Given the description of an element on the screen output the (x, y) to click on. 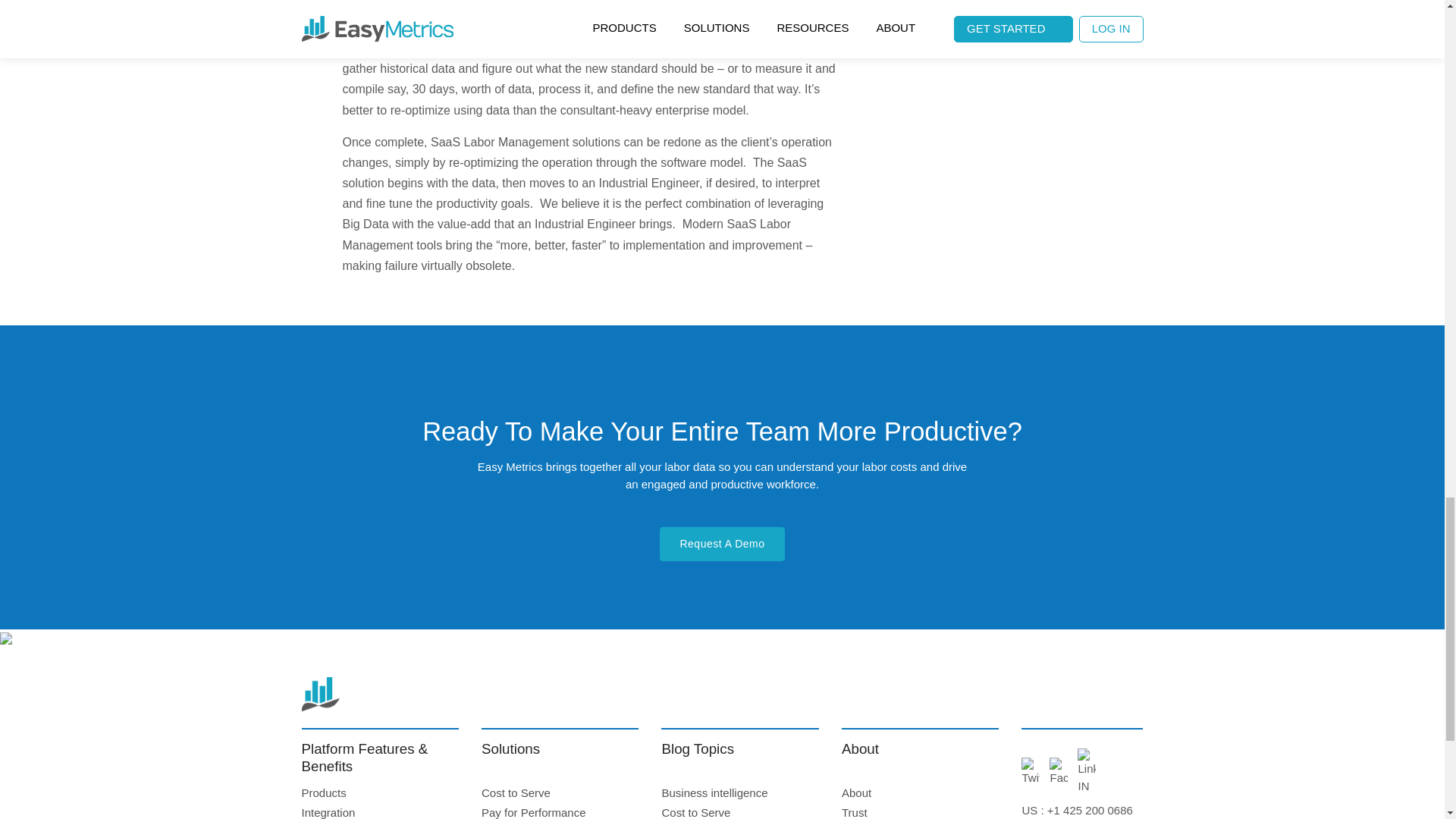
Integration (328, 812)
Request A Demo (721, 544)
Cost to Serve (695, 812)
Cost to Serve (515, 792)
Pay for Performance (533, 812)
Business intelligence (714, 792)
Products (323, 792)
